Given the description of an element on the screen output the (x, y) to click on. 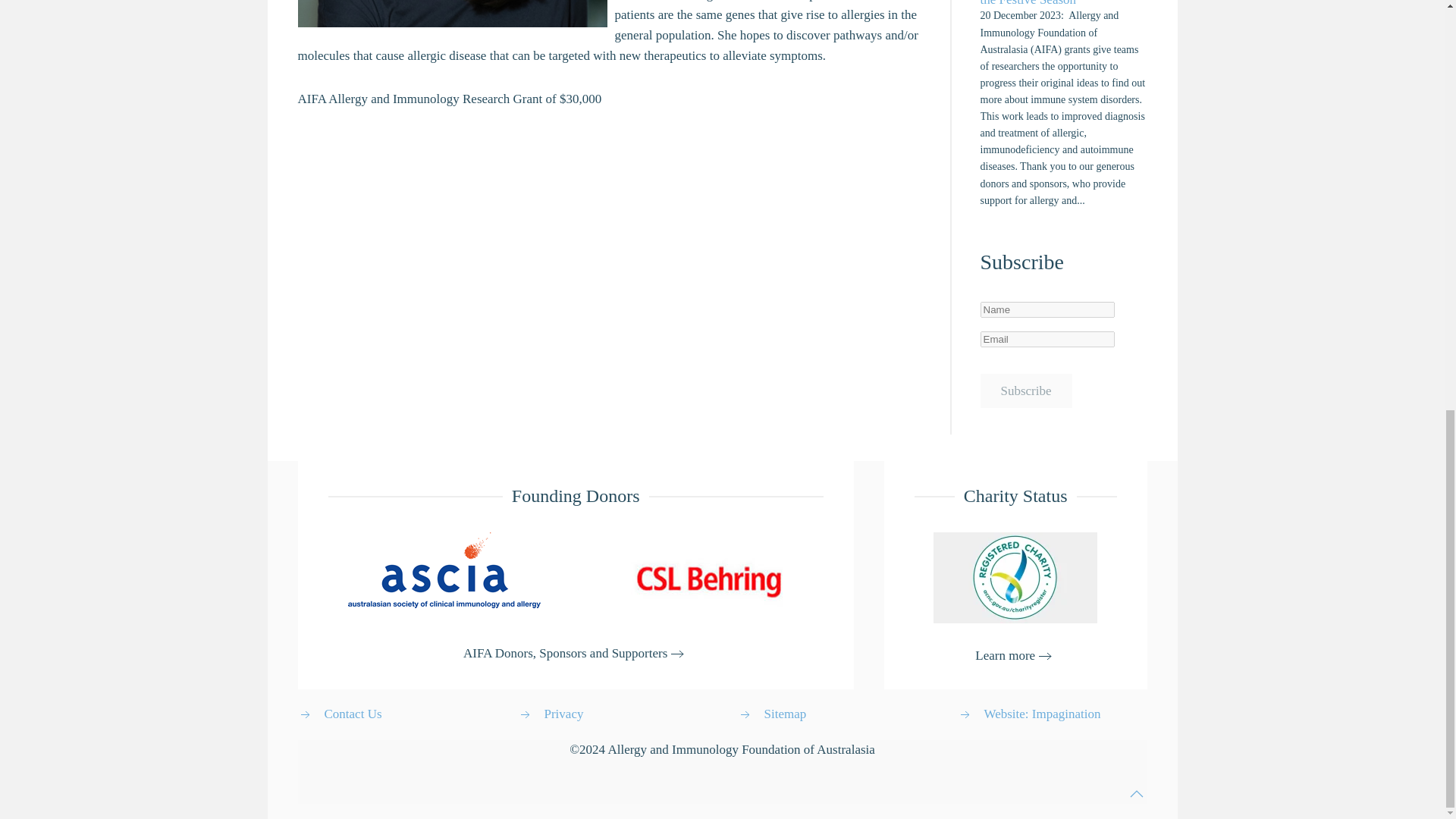
Learn more (1015, 656)
Subscribe (1025, 390)
Back to Top (1136, 793)
